Given the description of an element on the screen output the (x, y) to click on. 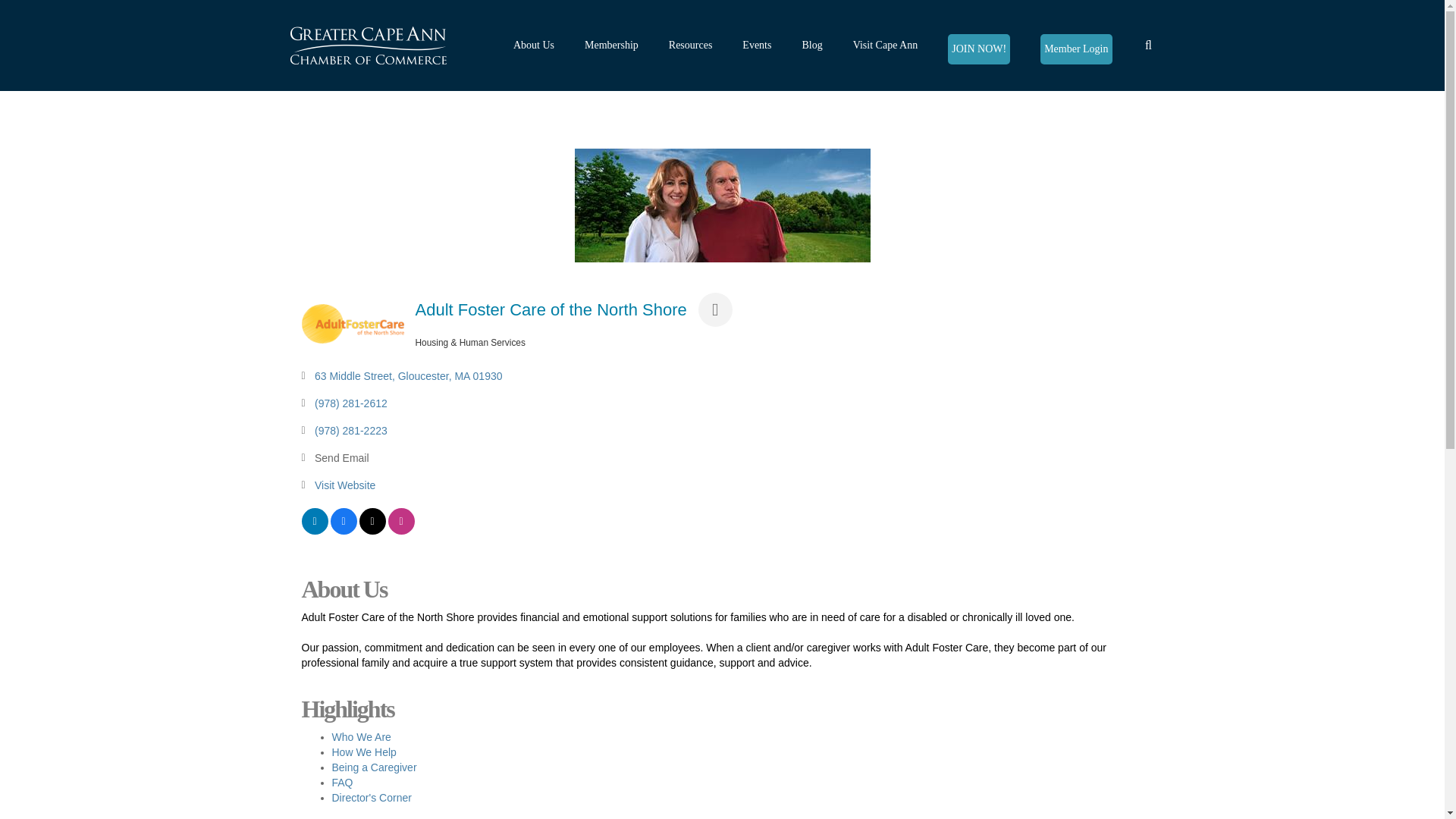
Adult Foster Care of the North Shore (722, 205)
Membership (612, 45)
View on Twitter (372, 530)
View on LinkedIn (315, 530)
View on Instagram (401, 530)
About Us (533, 45)
View on Facebook (343, 530)
Adult Foster Care of the North Shore (352, 323)
